Given the description of an element on the screen output the (x, y) to click on. 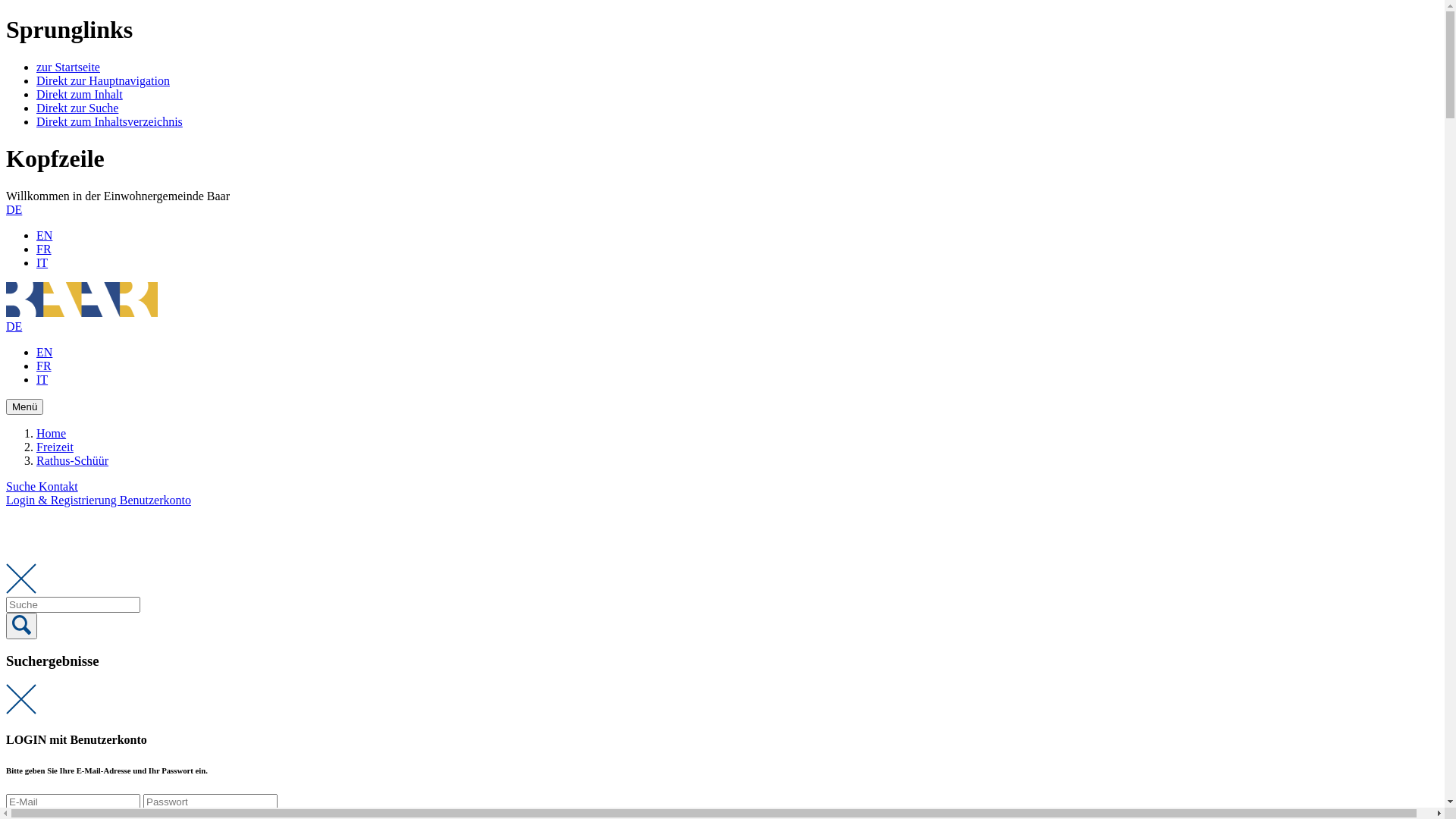
Login & Registrierung Benutzerkonto Element type: text (98, 499)
Direkt zum Inhalt Element type: text (79, 93)
EN Element type: text (44, 351)
DE Element type: text (13, 209)
IT Element type: text (41, 262)
Direkt zur Suche Element type: text (77, 107)
EN Element type: text (44, 235)
DE Element type: text (13, 326)
FR Element type: text (43, 365)
Kontakt Element type: text (58, 486)
zur Startseite Element type: text (68, 66)
Direkt zur Hauptnavigation Element type: text (102, 80)
Home Element type: text (50, 432)
Suche Element type: text (22, 486)
Direkt zum Inhaltsverzeichnis Element type: text (109, 121)
FR Element type: text (43, 248)
Freizeit Element type: text (54, 446)
IT Element type: text (41, 379)
